Given the description of an element on the screen output the (x, y) to click on. 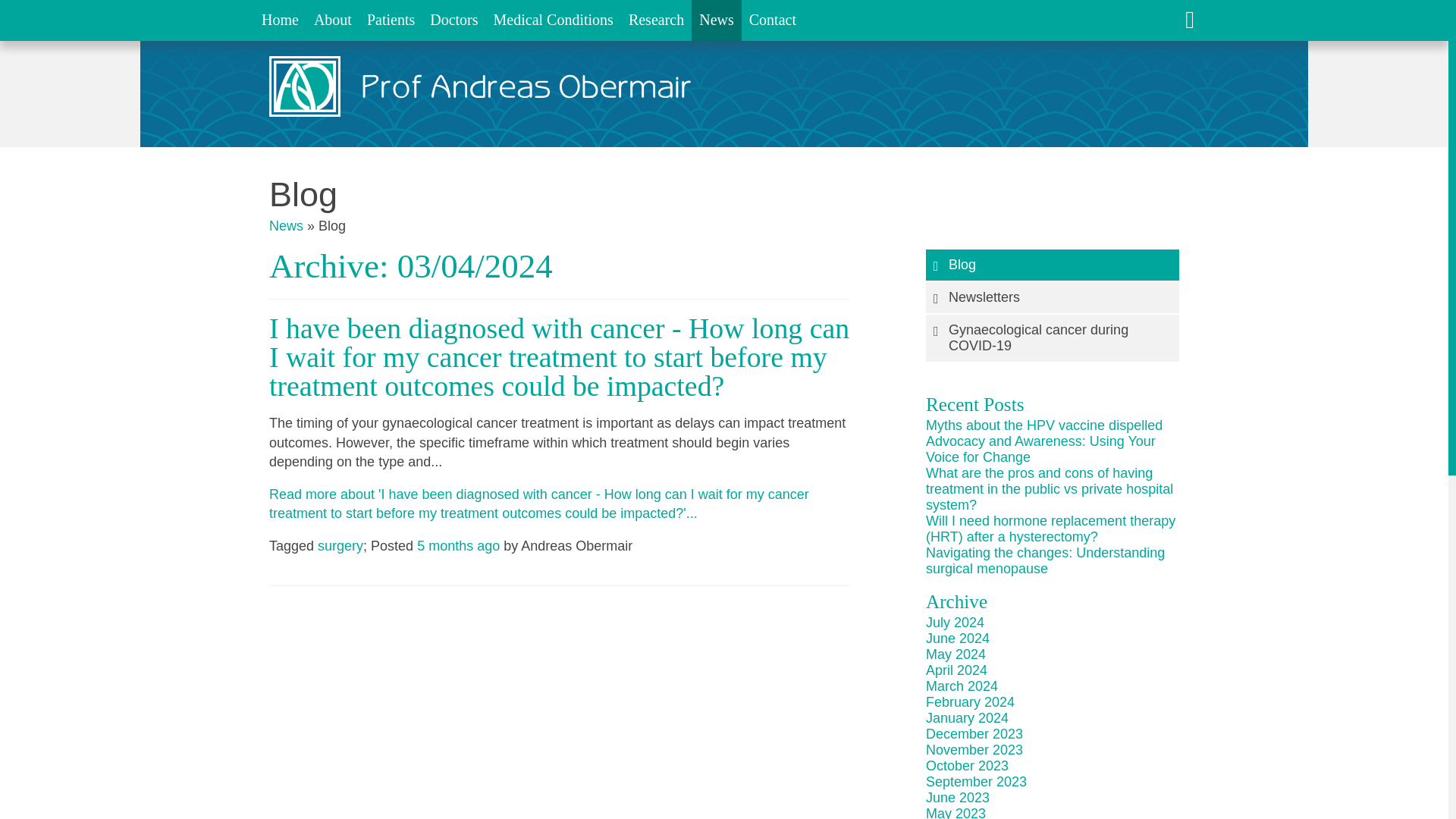
Home (279, 20)
Research (656, 20)
Contact (772, 20)
Go to the Information for Patients page (390, 20)
Go to the Medical Conditions page (553, 20)
Medical Conditions (553, 20)
Doctors (453, 20)
News (716, 20)
Patients (390, 20)
Go to the Information for Doctors page (453, 20)
